Given the description of an element on the screen output the (x, y) to click on. 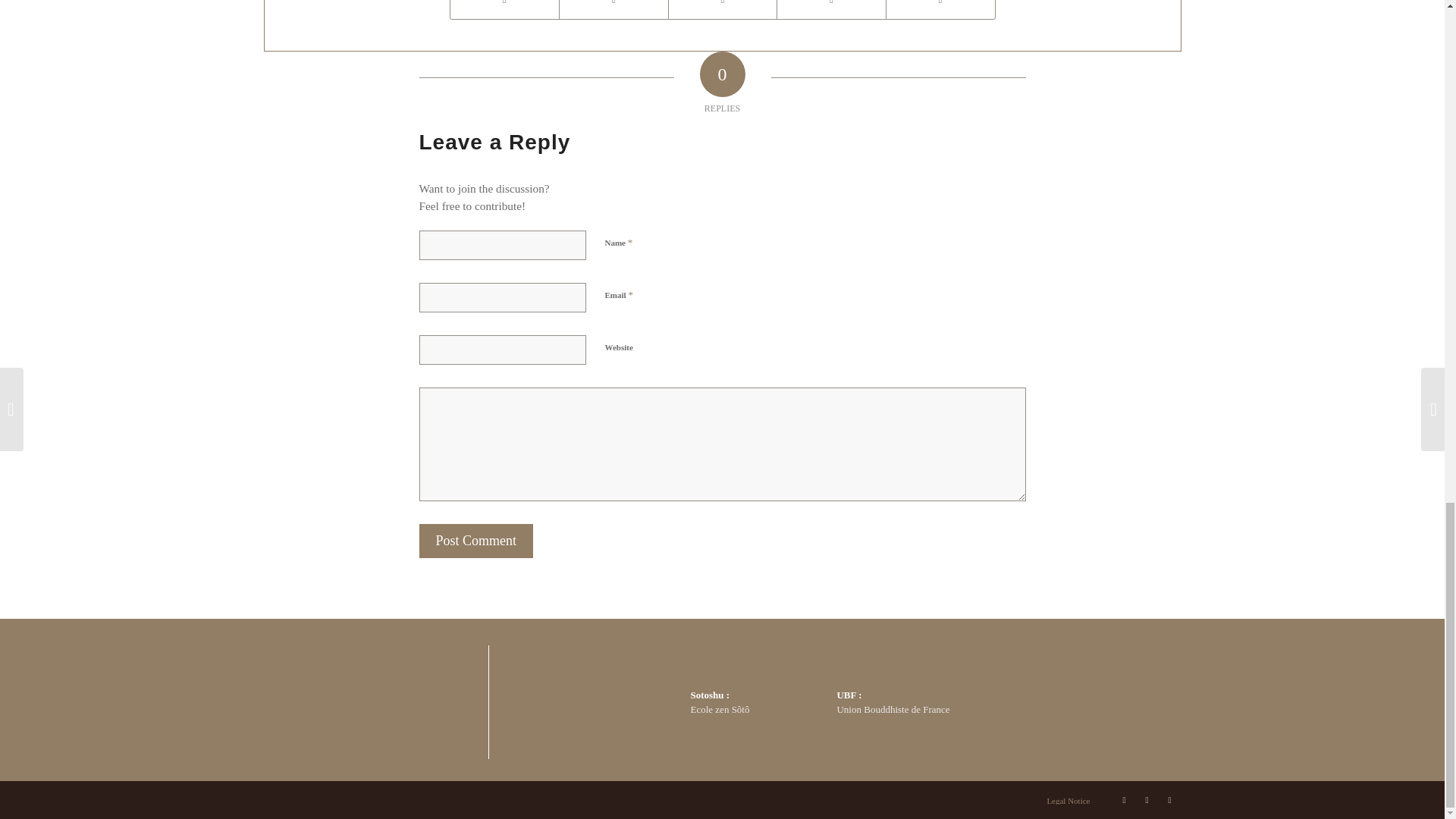
Facebook (1146, 799)
Post Comment (475, 540)
Post Comment (475, 540)
Twitter (1124, 799)
Instagram (1169, 799)
Legal Notice (1067, 800)
